Given the description of an element on the screen output the (x, y) to click on. 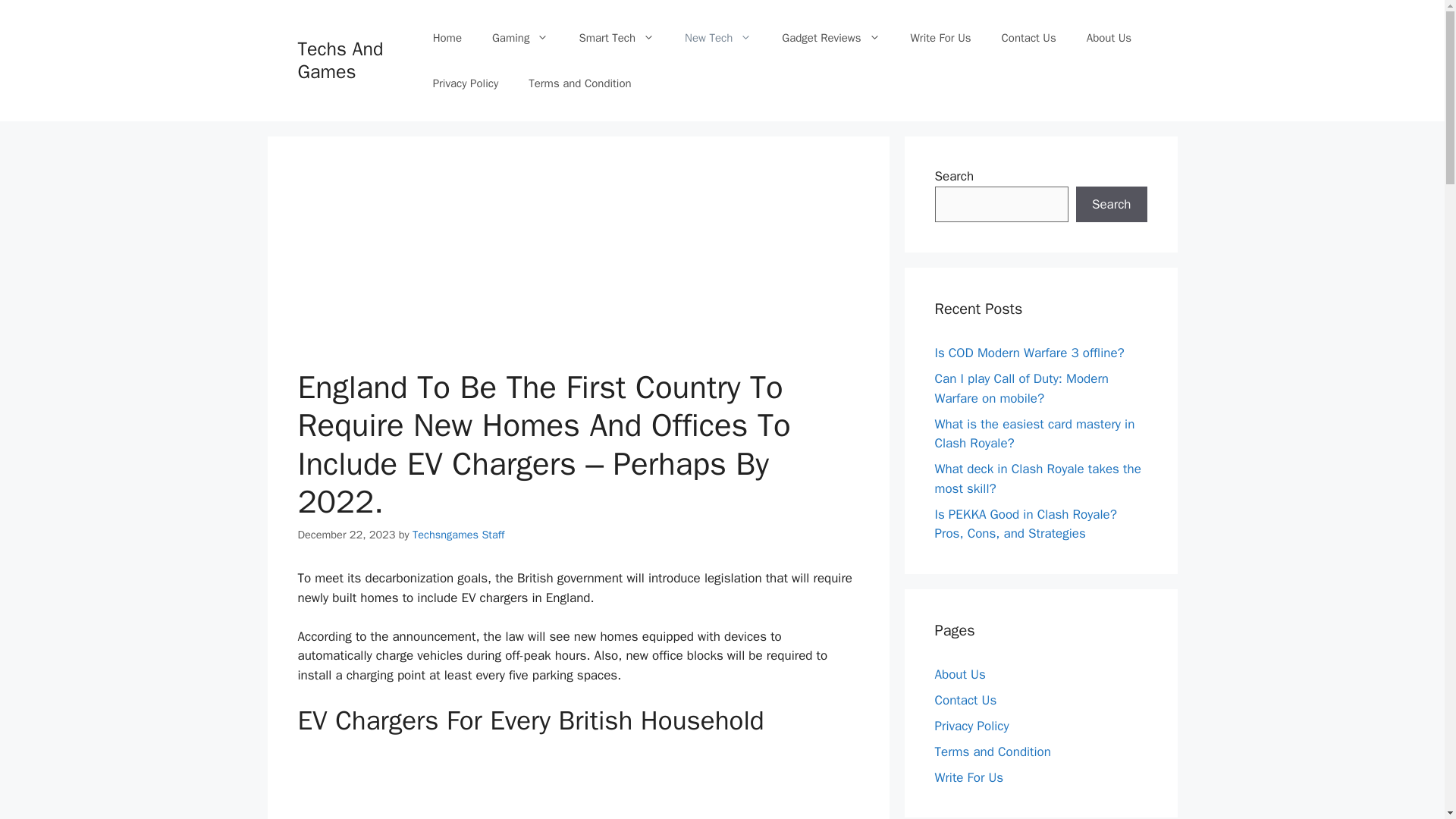
Smart Tech (616, 37)
Home (447, 37)
View all posts by Techsngames Staff (457, 534)
New Tech (718, 37)
Privacy Policy (465, 83)
Terms and Condition (579, 83)
Techs And Games (339, 59)
Gaming (520, 37)
Gadget Reviews (831, 37)
About Us (1109, 37)
